Given the description of an element on the screen output the (x, y) to click on. 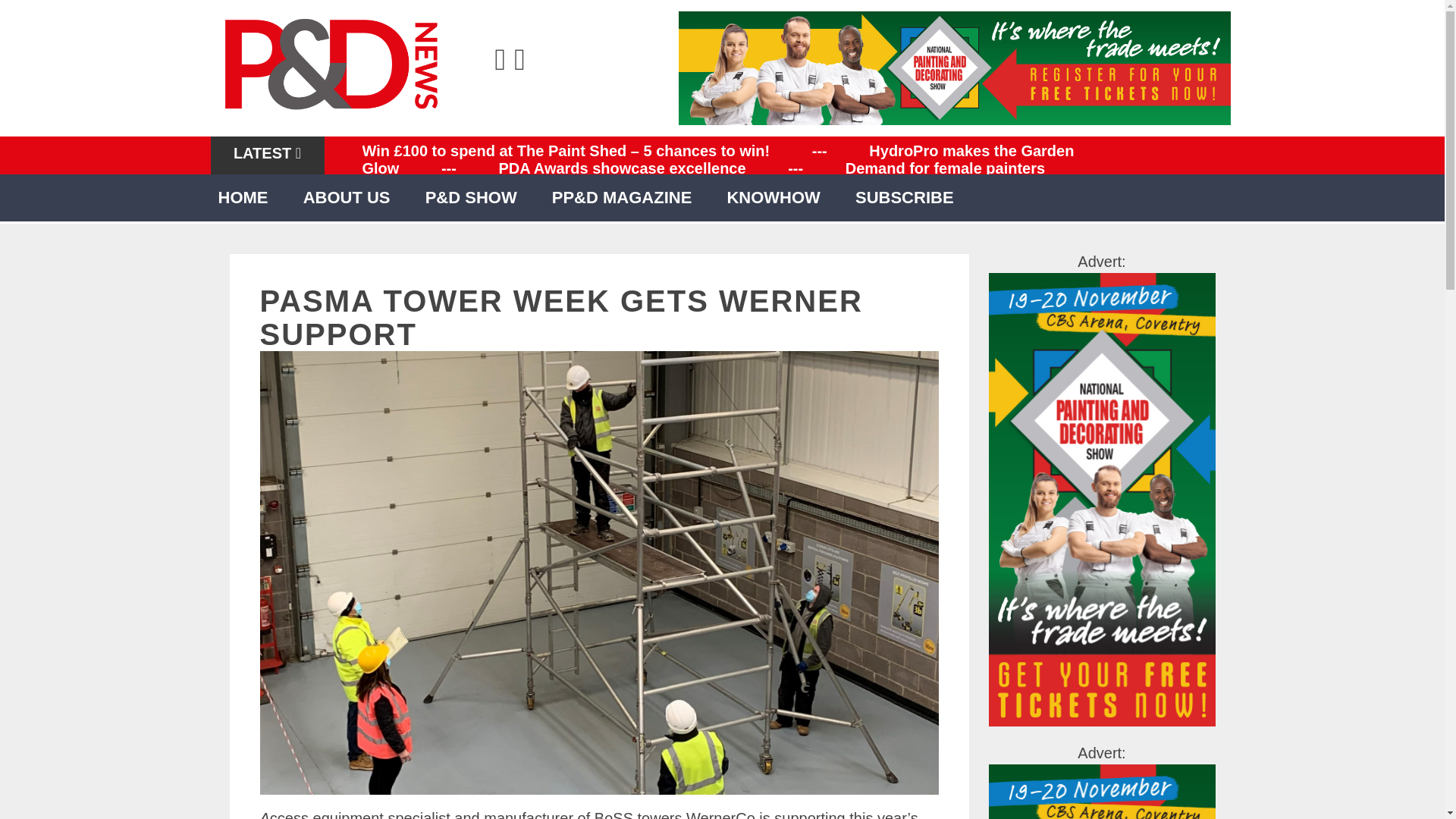
PDA Awards showcase excellence (622, 167)
--- (819, 150)
--- (795, 167)
--- (449, 167)
HydroPro makes the Garden Glow (718, 159)
